Given the description of an element on the screen output the (x, y) to click on. 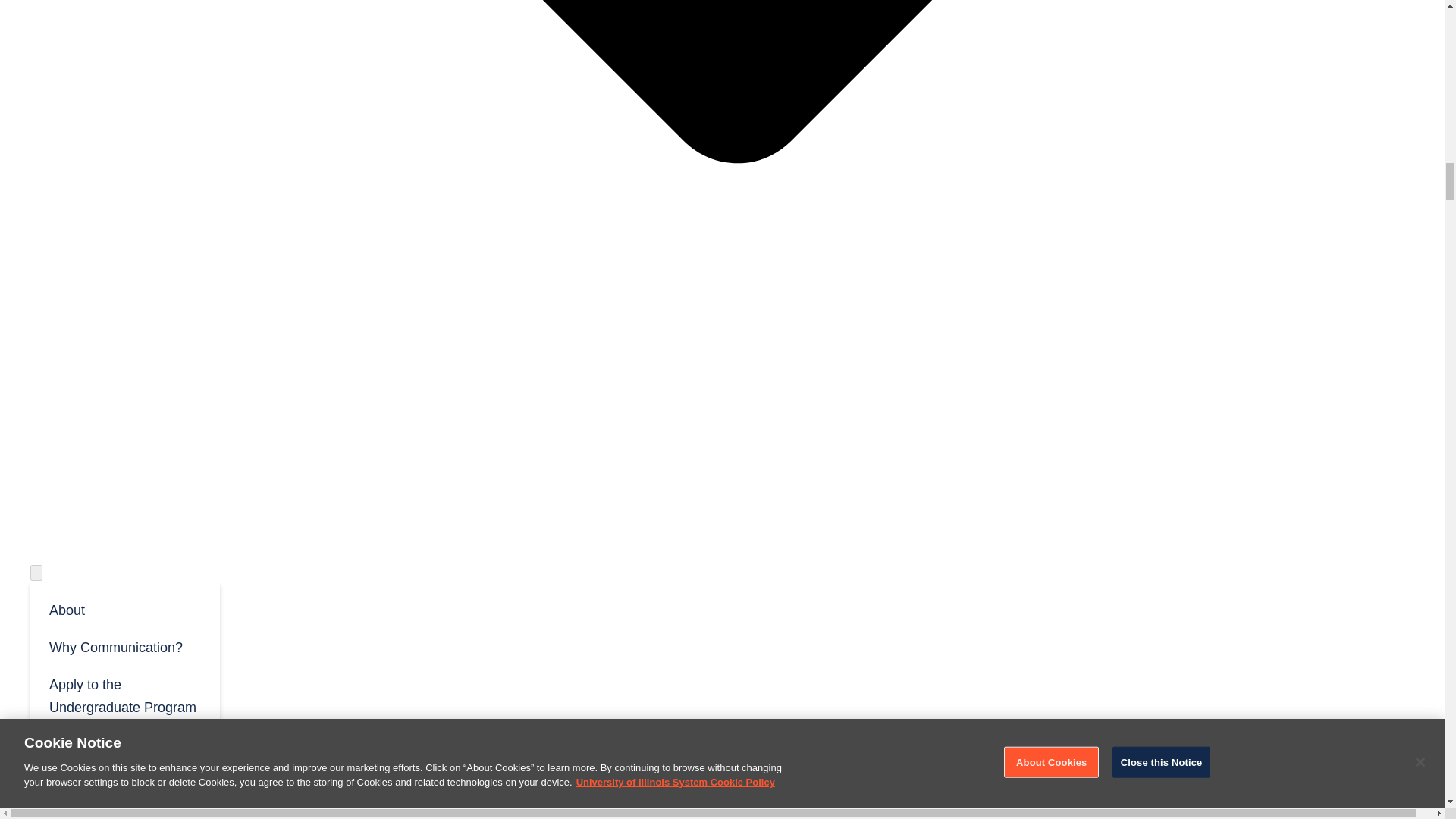
About (125, 609)
Apply to the Undergraduate Program (125, 694)
Academics (63, 813)
Why Communication? (125, 646)
Apply to the Graduate Program (125, 754)
